Given the description of an element on the screen output the (x, y) to click on. 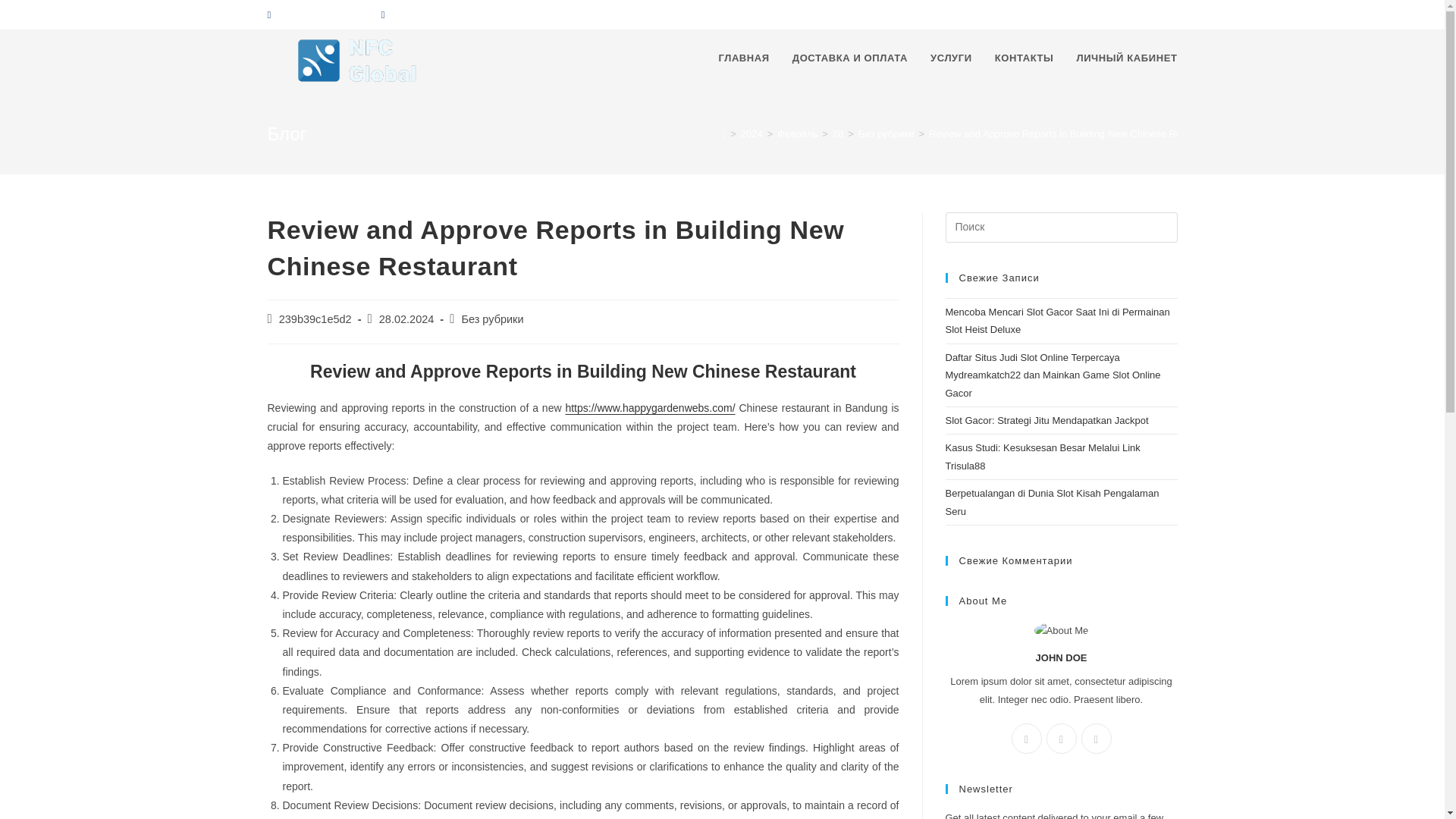
2024 (751, 133)
28 (837, 133)
Slot Gacor: Strategi Jitu Mendapatkan Jackpot (1046, 419)
239b39c1e5d2 (315, 318)
Kasus Studi: Kesuksesan Besar Melalui Link Trisula88 (1042, 456)
